Given the description of an element on the screen output the (x, y) to click on. 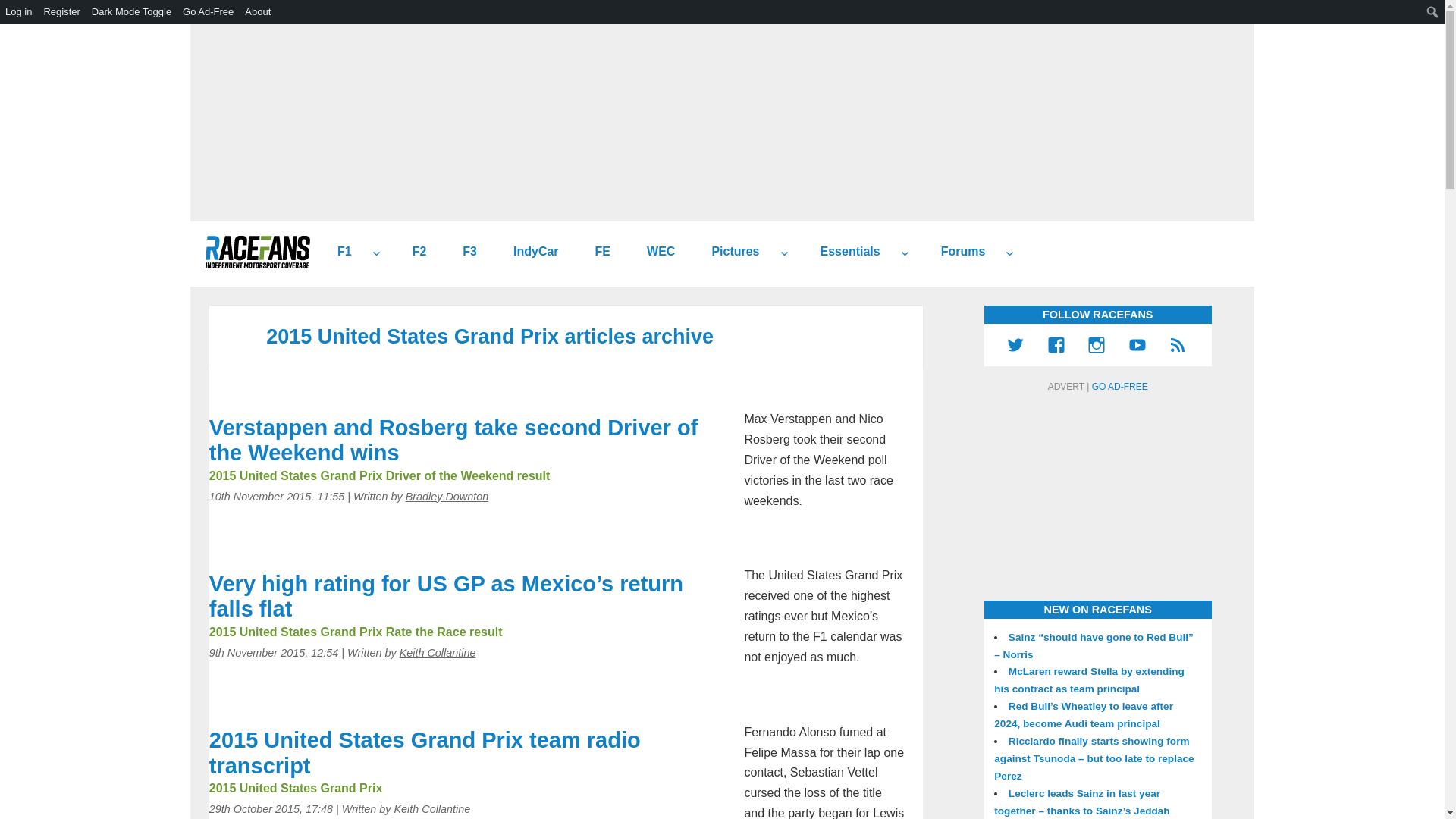
F2 (413, 251)
WEC (655, 251)
IndyCar (529, 251)
F1 pictures and wallpapers (729, 251)
Formula 3 (463, 251)
Essentials (844, 251)
FE (596, 251)
Pictures (729, 251)
RaceFans (257, 252)
expand child menu (904, 253)
F3 (463, 251)
World Endurance Championship (655, 251)
Formula E (596, 251)
IndyCar (529, 251)
F1 (338, 251)
